Given the description of an element on the screen output the (x, y) to click on. 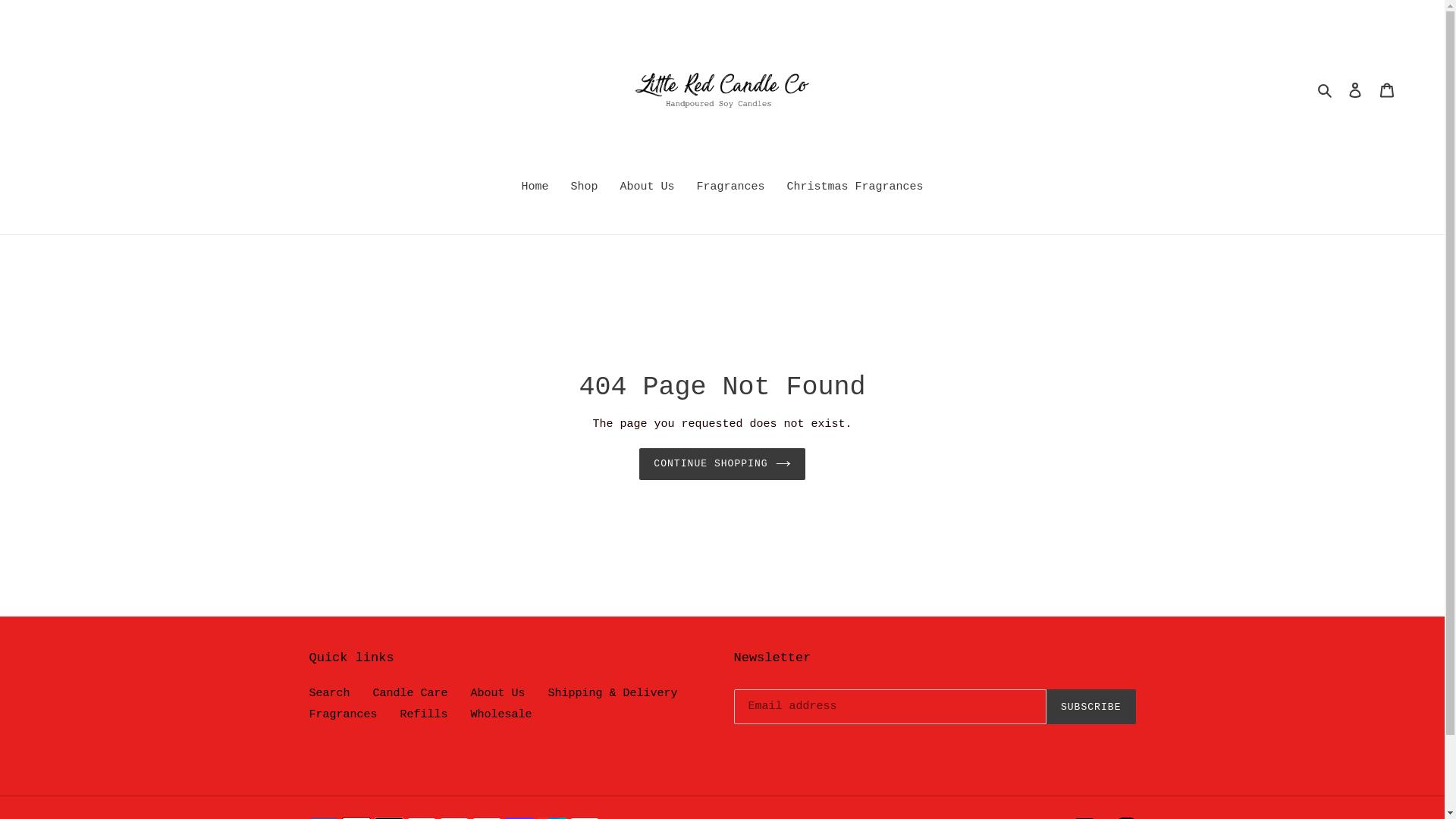
Christmas Fragrances Element type: text (855, 188)
Fragrances Element type: text (730, 188)
Refills Element type: text (424, 714)
Candle Care Element type: text (410, 693)
Cart Element type: text (1386, 91)
Shipping & Delivery Element type: text (612, 693)
Wholesale Element type: text (501, 714)
CONTINUE SHOPPING Element type: text (721, 464)
Fragrances Element type: text (343, 714)
Search Element type: text (1325, 90)
Search Element type: text (329, 693)
Home Element type: text (534, 188)
About Us Element type: text (646, 188)
Shop Element type: text (583, 188)
About Us Element type: text (497, 693)
Log in Element type: text (1355, 91)
SUBSCRIBE Element type: text (1090, 706)
